Given the description of an element on the screen output the (x, y) to click on. 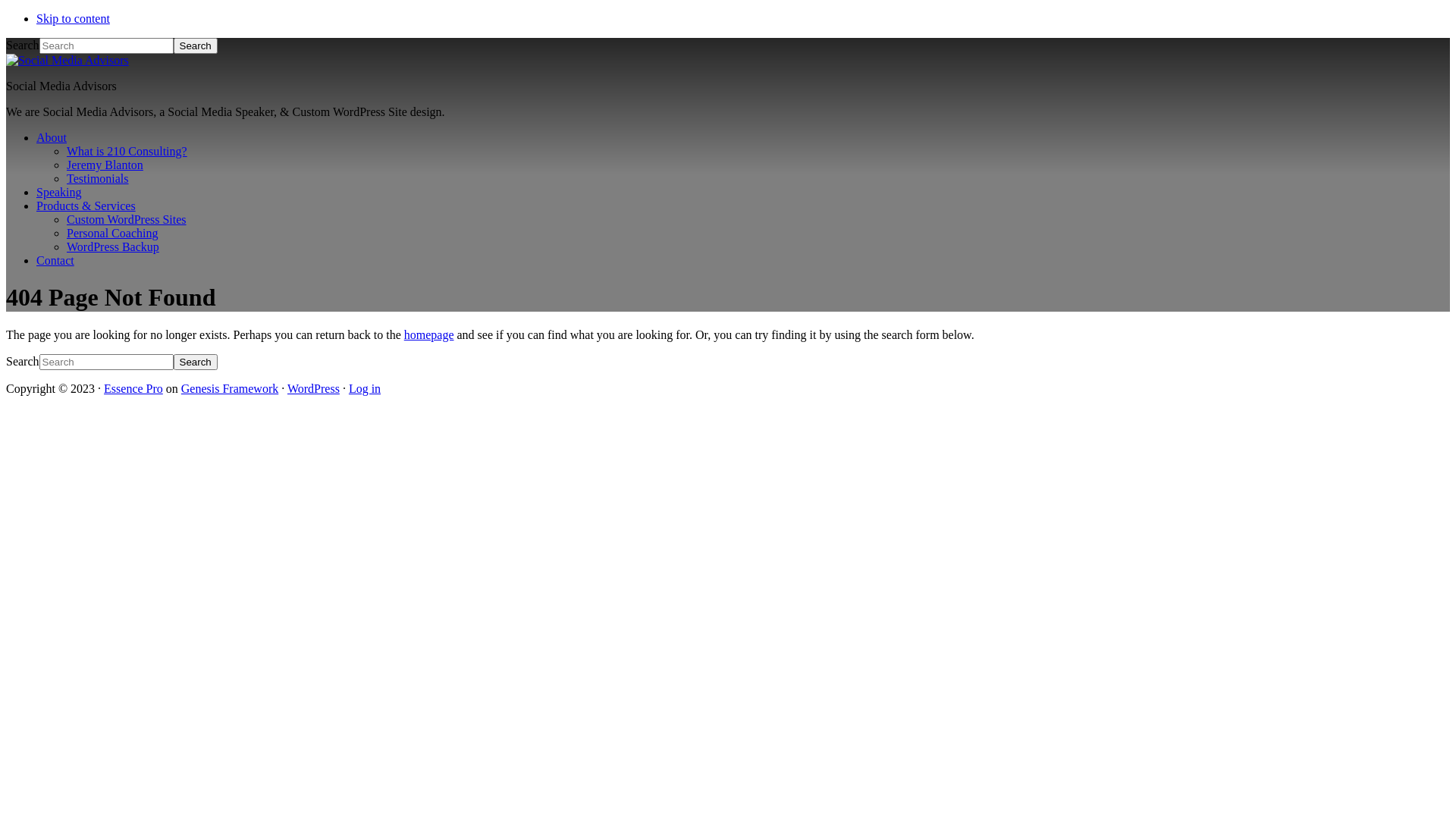
Genesis Framework Element type: text (229, 388)
Search Element type: text (195, 362)
Jeremy Blanton Element type: text (104, 164)
Contact Element type: text (55, 260)
homepage Element type: text (429, 334)
Essence Pro Element type: text (133, 388)
Personal Coaching Element type: text (111, 232)
Products & Services Element type: text (85, 205)
About Element type: text (51, 137)
Log in Element type: text (364, 388)
Speaking Element type: text (58, 191)
Search Element type: text (195, 45)
Custom WordPress Sites Element type: text (126, 219)
Skip to content Element type: text (72, 18)
What is 210 Consulting? Element type: text (126, 150)
WordPress Backup Element type: text (112, 246)
Testimonials Element type: text (97, 178)
WordPress Element type: text (313, 388)
